Given the description of an element on the screen output the (x, y) to click on. 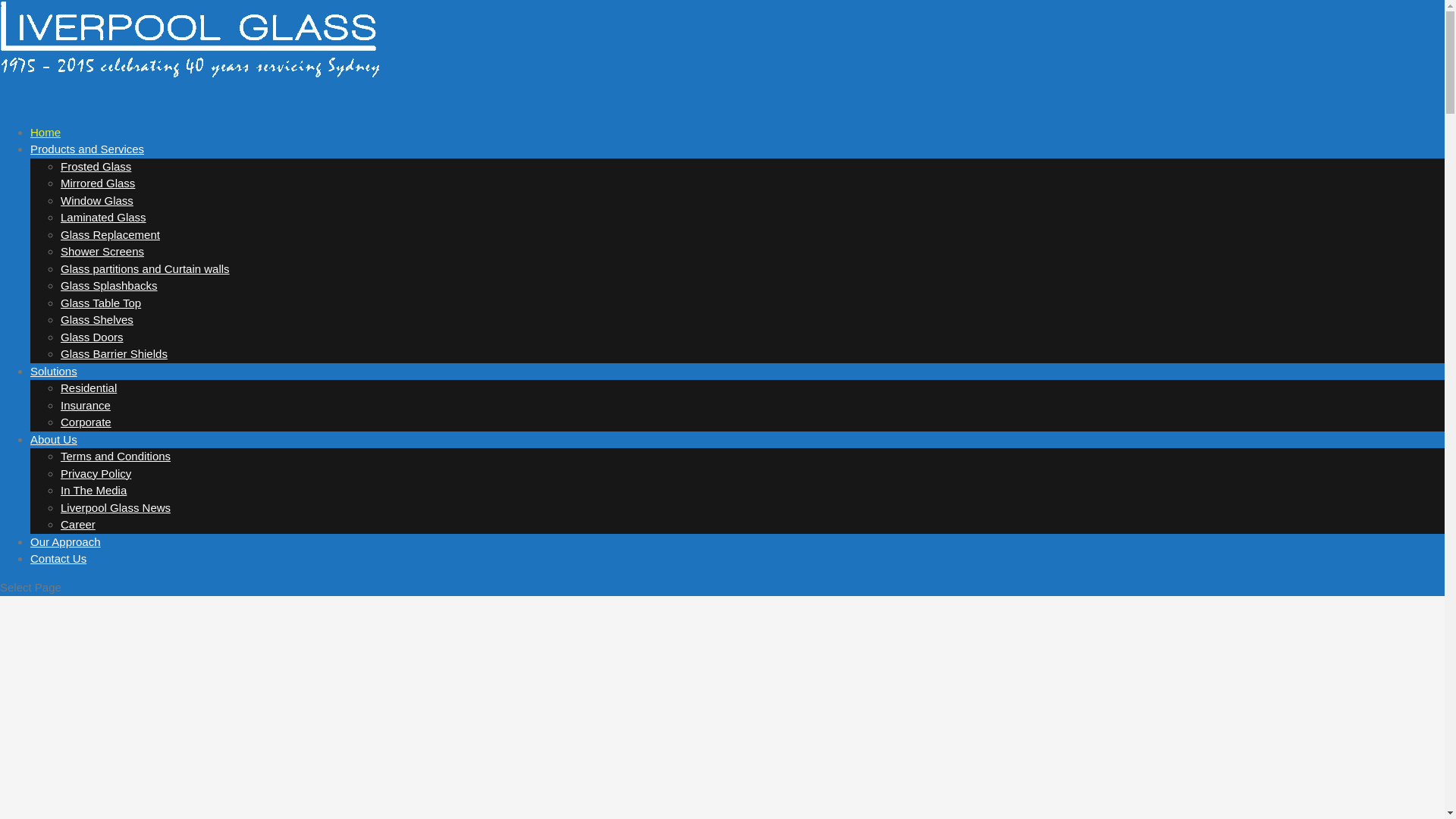
Insurance Element type: text (85, 404)
Residential Element type: text (88, 387)
Terms and Conditions Element type: text (115, 455)
About Us Element type: text (53, 453)
Glass Replacement Element type: text (110, 233)
Our Approach Element type: text (65, 556)
Corporate Element type: text (85, 421)
Mirrored Glass Element type: text (97, 182)
Home Element type: text (45, 147)
Frosted Glass Element type: text (95, 165)
In The Media Element type: text (93, 489)
Privacy Policy Element type: text (95, 473)
Liverpool Glass News Element type: text (115, 506)
Shower Screens Element type: text (102, 250)
Glass Splashbacks Element type: text (108, 285)
Products and Services Element type: text (87, 163)
Laminated Glass Element type: text (103, 216)
Glass Doors Element type: text (91, 336)
Window Glass Element type: text (96, 200)
Contact Us Element type: text (58, 573)
Glass Shelves Element type: text (96, 319)
Glass partitions and Curtain walls Element type: text (144, 268)
Career Element type: text (77, 523)
Glass Table Top Element type: text (100, 301)
Solutions Element type: text (53, 385)
Glass Barrier Shields Element type: text (113, 353)
